Given the description of an element on the screen output the (x, y) to click on. 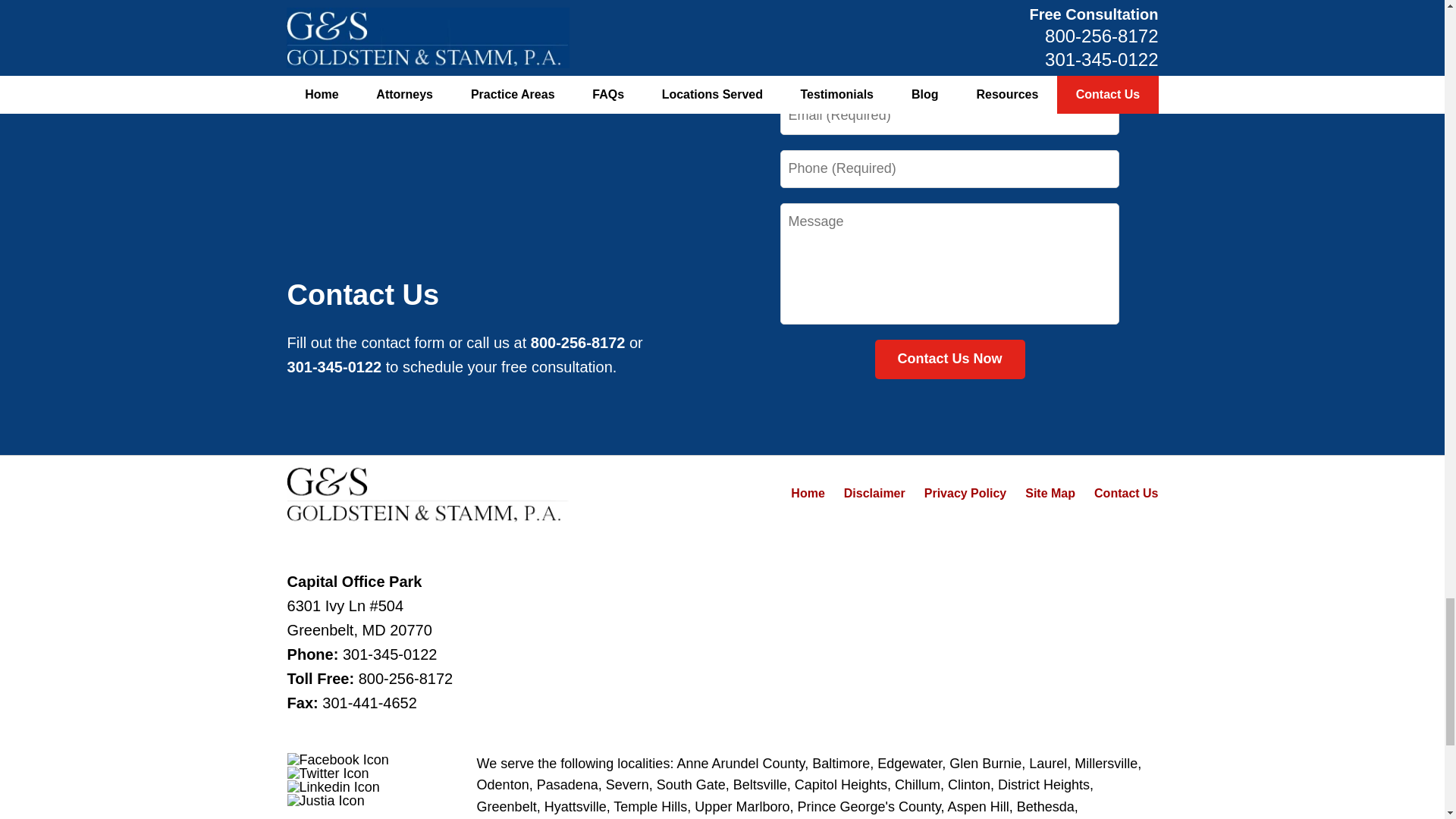
Linkedin (333, 786)
Justia (325, 800)
Twitter (327, 773)
Facebook (337, 759)
